Given the description of an element on the screen output the (x, y) to click on. 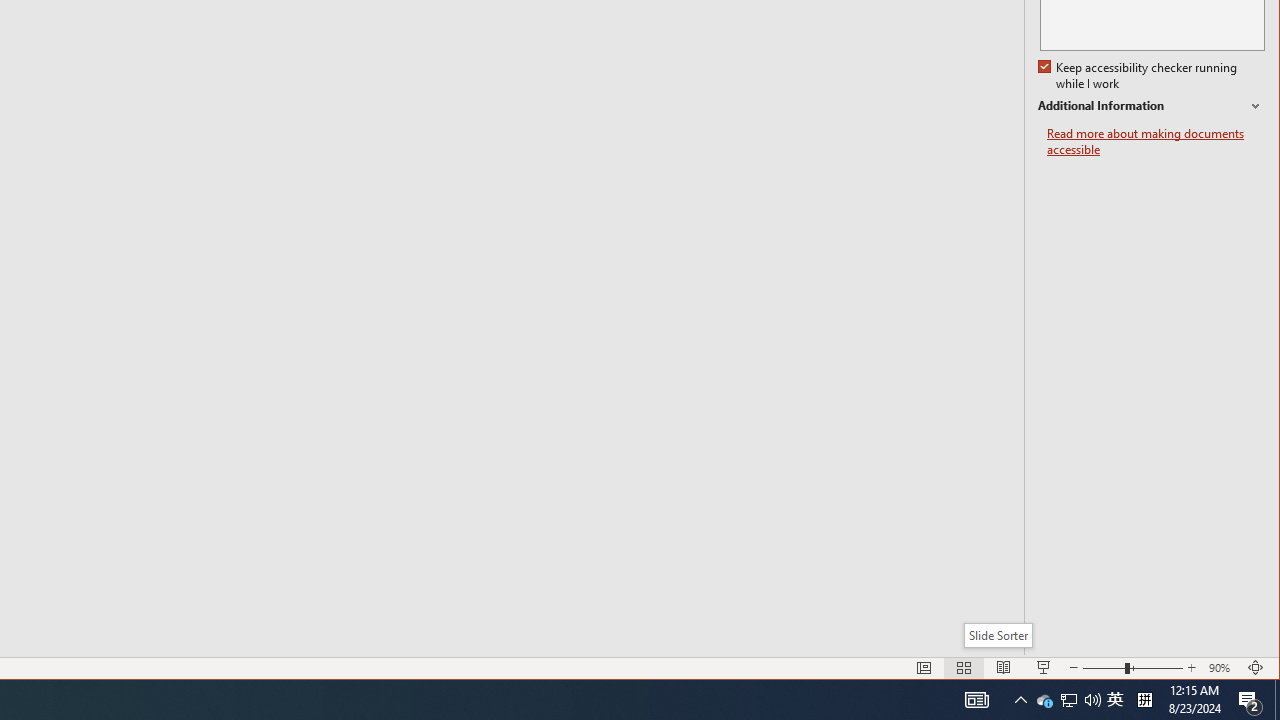
Zoom 90% (1222, 668)
Keep accessibility checker running while I work (1139, 76)
Action Center, 2 new notifications (1250, 699)
Notification Chevron (1020, 699)
Q2790: 100% (1092, 699)
